Given the description of an element on the screen output the (x, y) to click on. 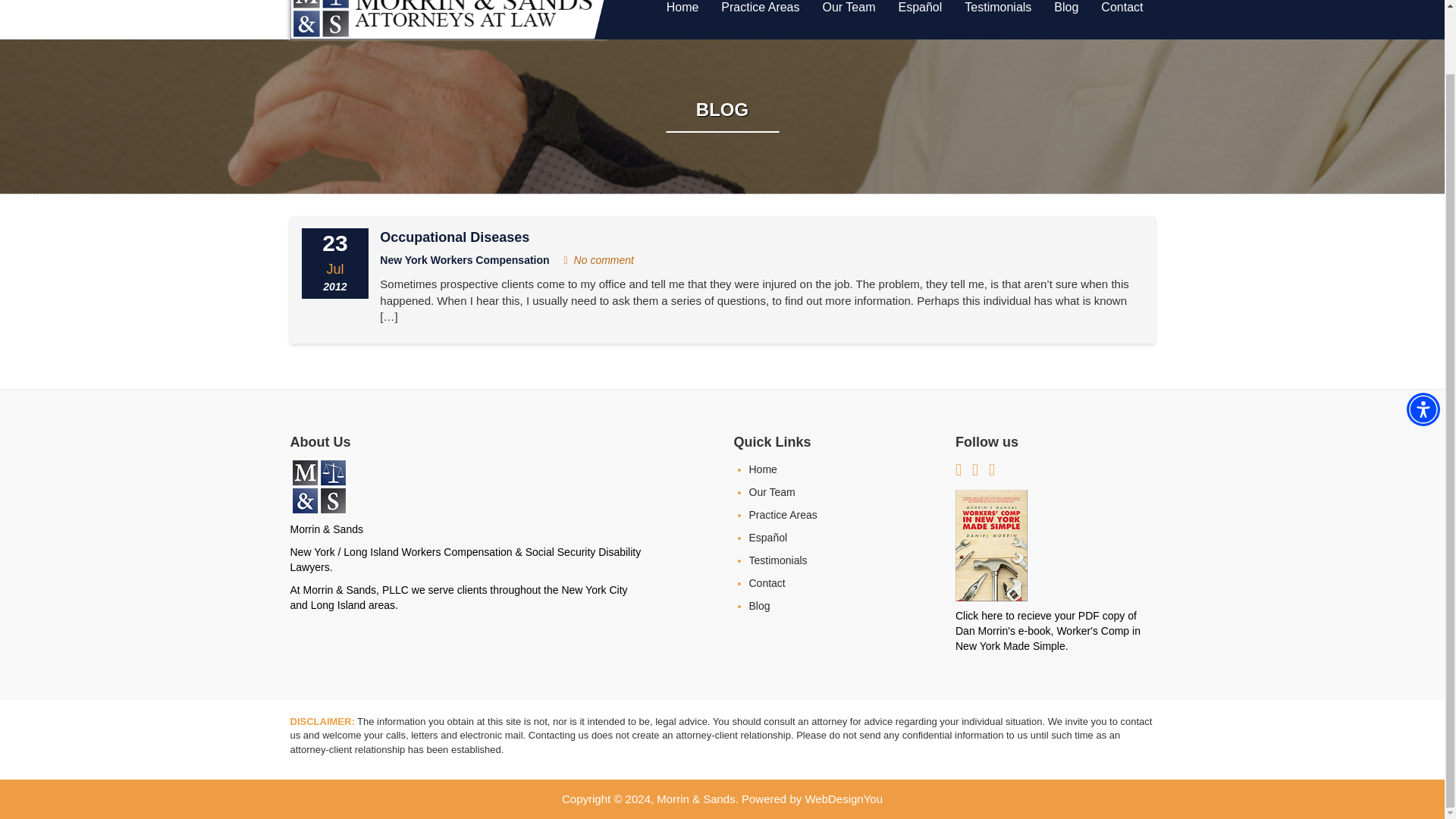
Practice Areas (760, 14)
Home (682, 14)
Accessibility Menu (1422, 338)
Our Team (848, 14)
